Given the description of an element on the screen output the (x, y) to click on. 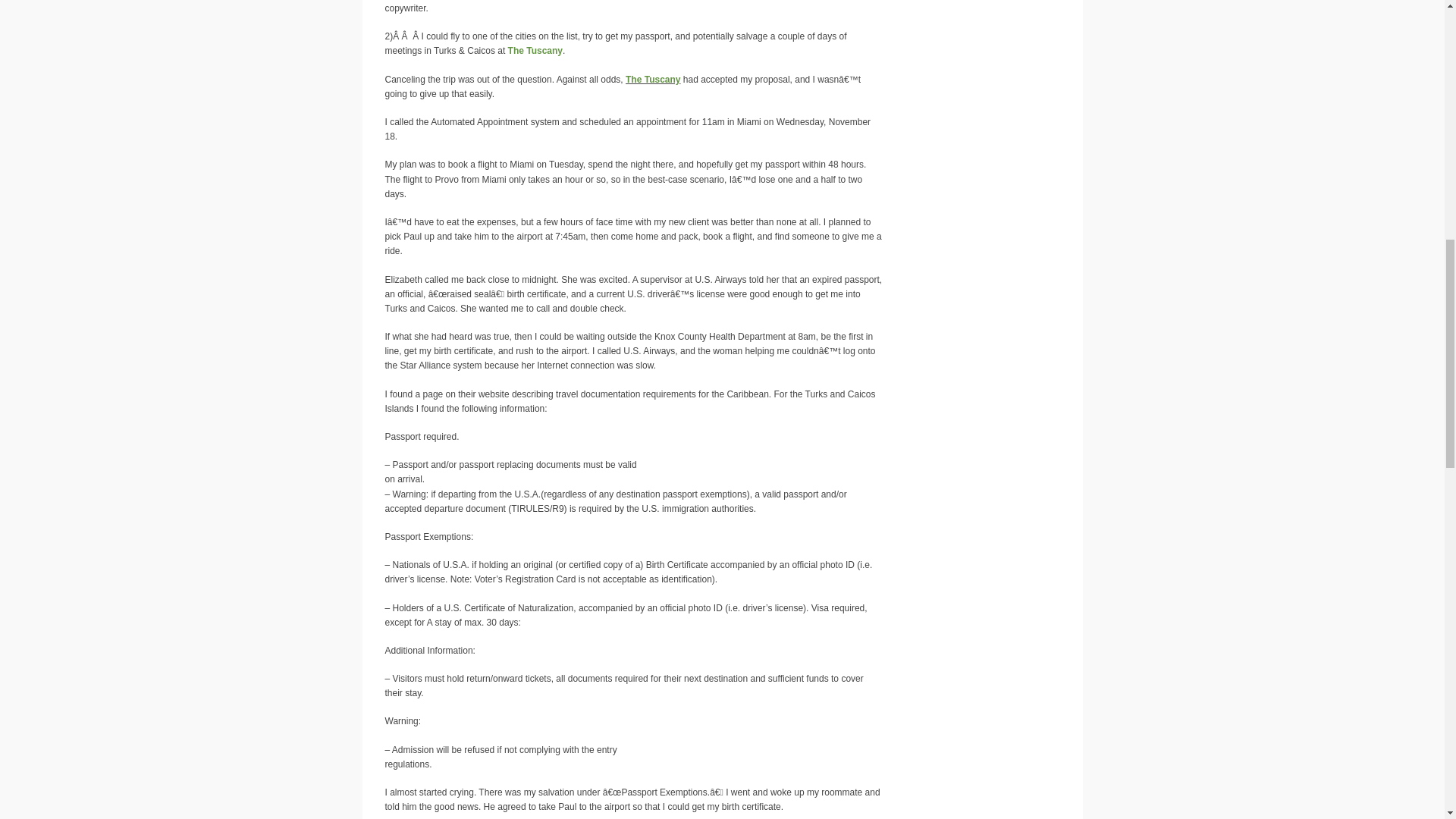
The Tuscany (652, 79)
The Tuscany (535, 50)
The Tuscany on Grace Bay (535, 50)
The Tuscany on Grace Bay (652, 79)
